Given the description of an element on the screen output the (x, y) to click on. 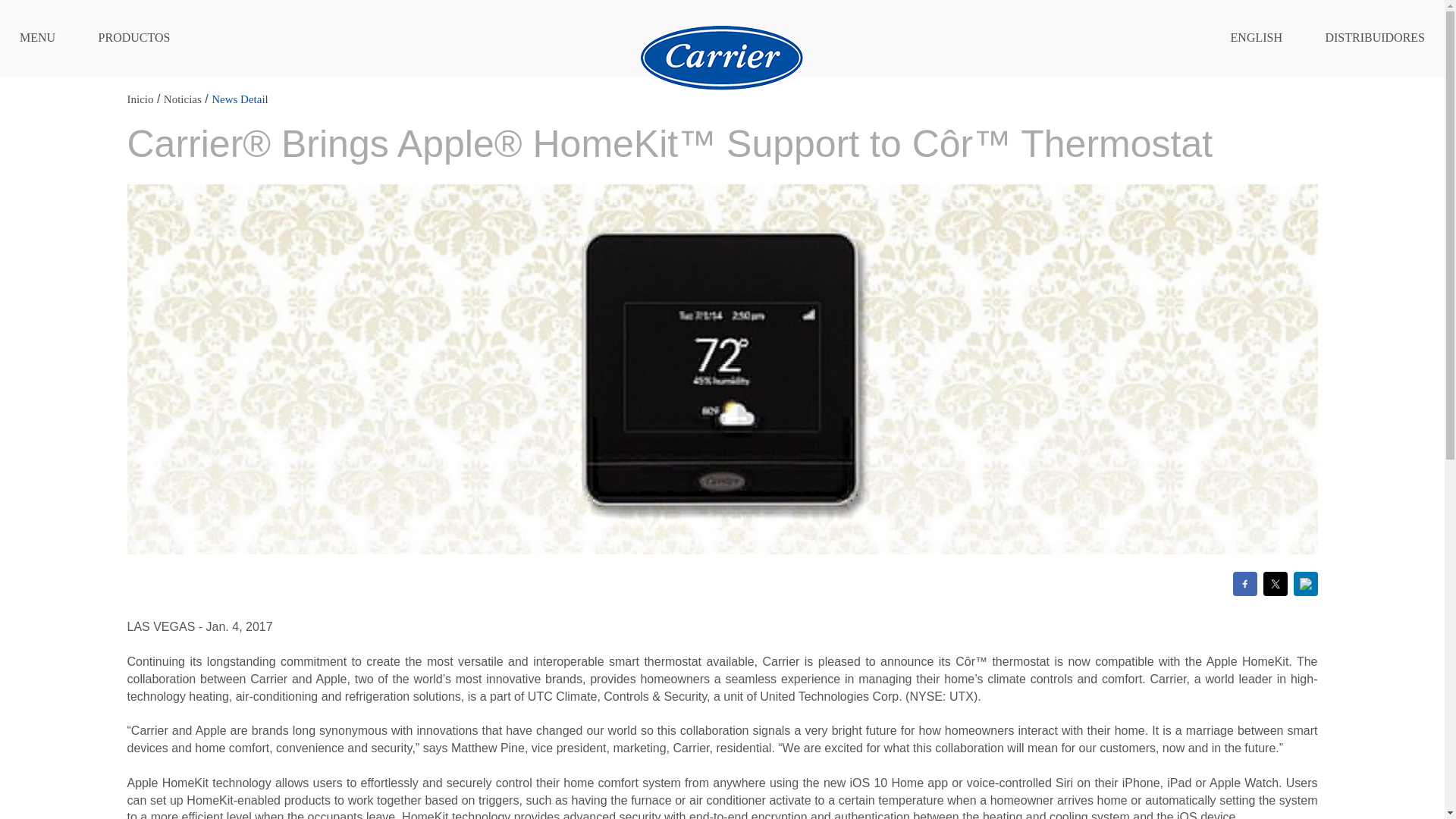
ENGLISH (1256, 37)
MENU (37, 37)
News Detail (239, 99)
PRODUCTOS (134, 37)
DISTRIBUIDORES (1374, 37)
Inicio (141, 99)
Noticias (182, 99)
